Given the description of an element on the screen output the (x, y) to click on. 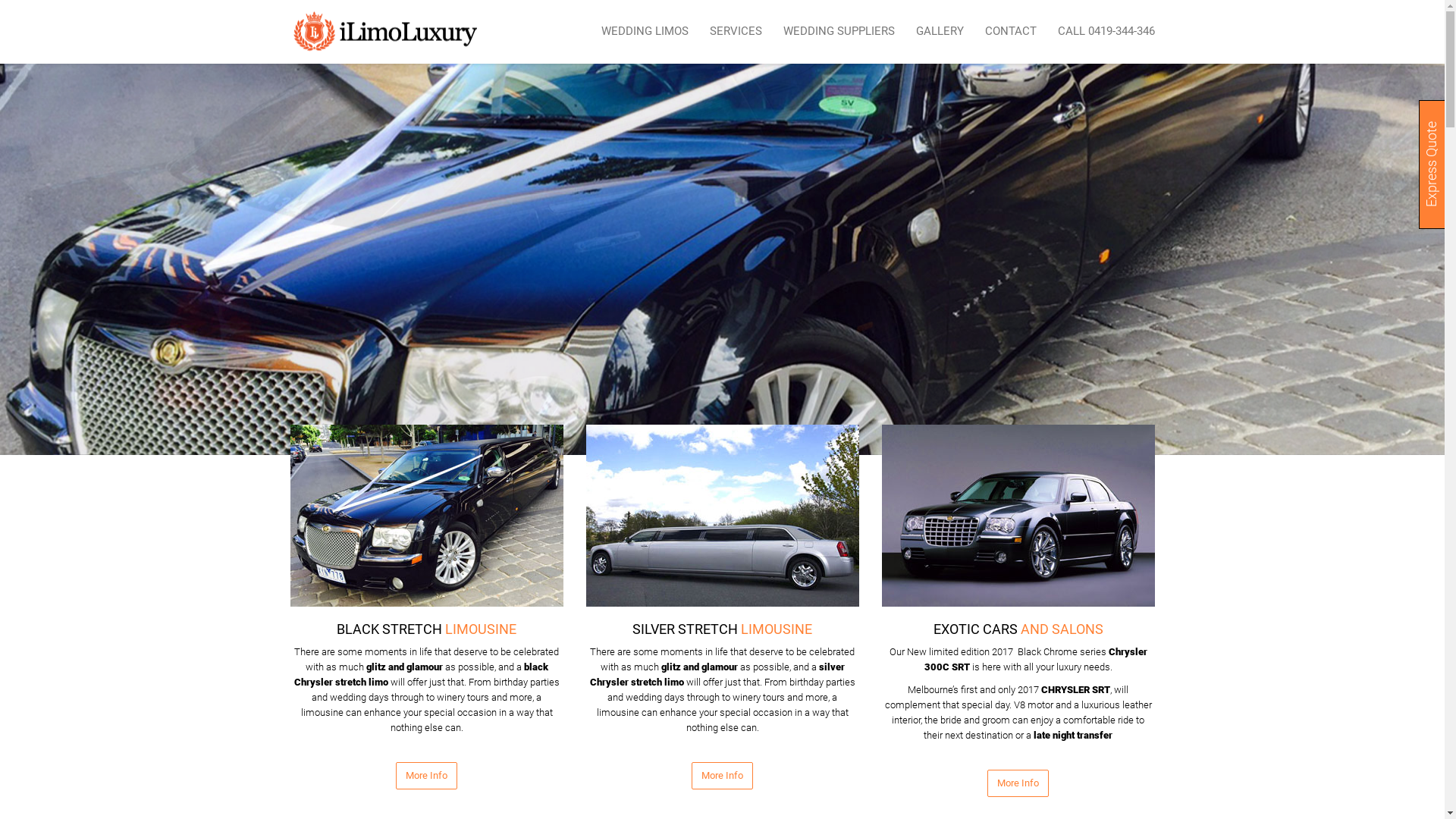
silverlimo Element type: hover (721, 515)
CALL 0419-344-346 Element type: text (1100, 31)
GALLERY Element type: text (939, 31)
towncar Element type: hover (1017, 515)
More Info Element type: text (1017, 783)
limoblack Element type: hover (425, 515)
More Info Element type: text (426, 776)
CONTACT Element type: text (1009, 31)
WEDDING SUPPLIERS Element type: text (837, 31)
WEDDING LIMOS Element type: text (643, 31)
SERVICES Element type: text (735, 31)
More Info Element type: text (722, 776)
